Given the description of an element on the screen output the (x, y) to click on. 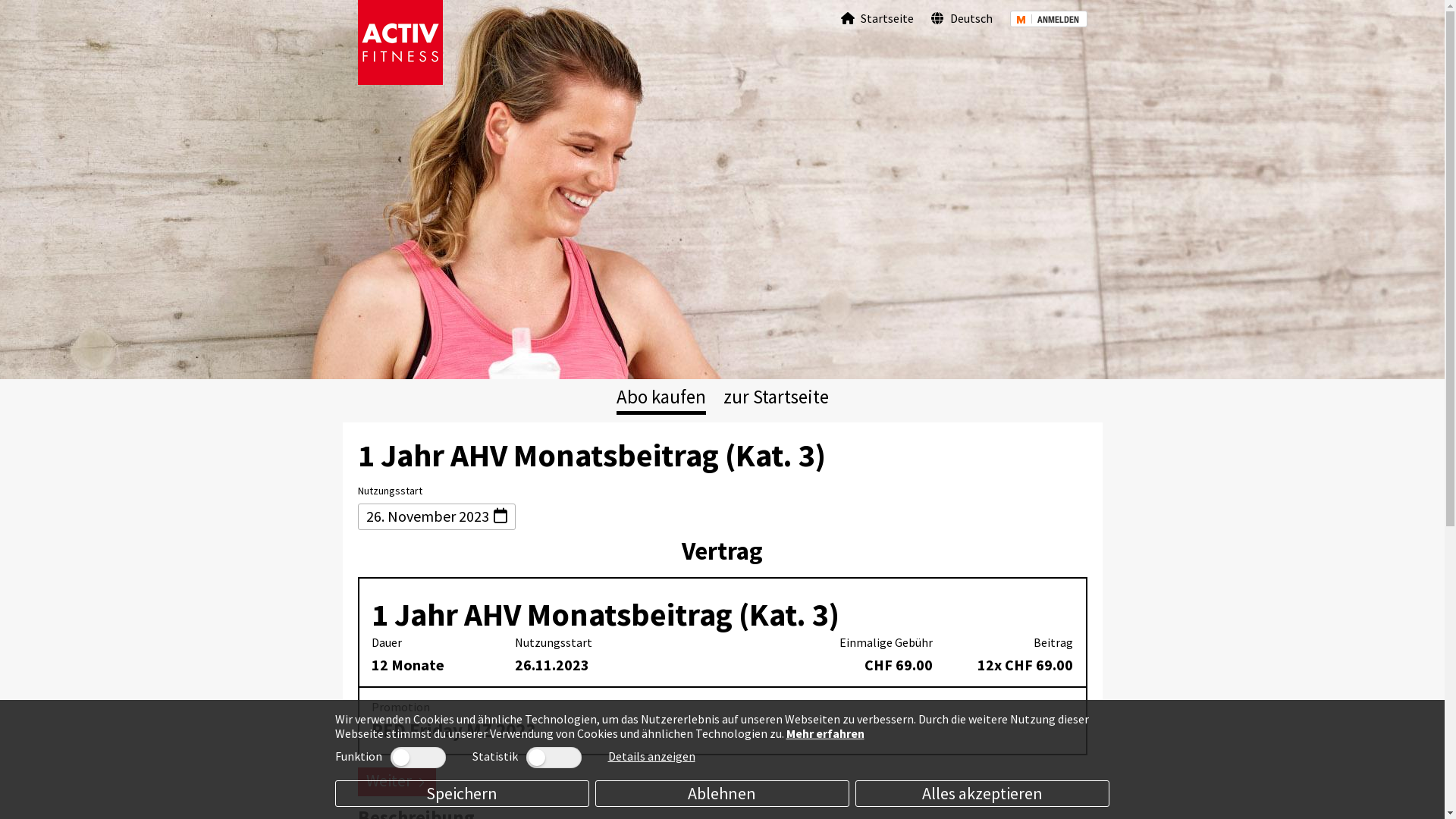
Startseite Element type: text (876, 18)
zur Startseite Element type: text (775, 396)
ANMELDEN Element type: text (1048, 18)
Abo kaufen Element type: text (660, 396)
Mehr erfahren Element type: text (824, 732)
Details anzeigen Element type: text (651, 755)
